Given the description of an element on the screen output the (x, y) to click on. 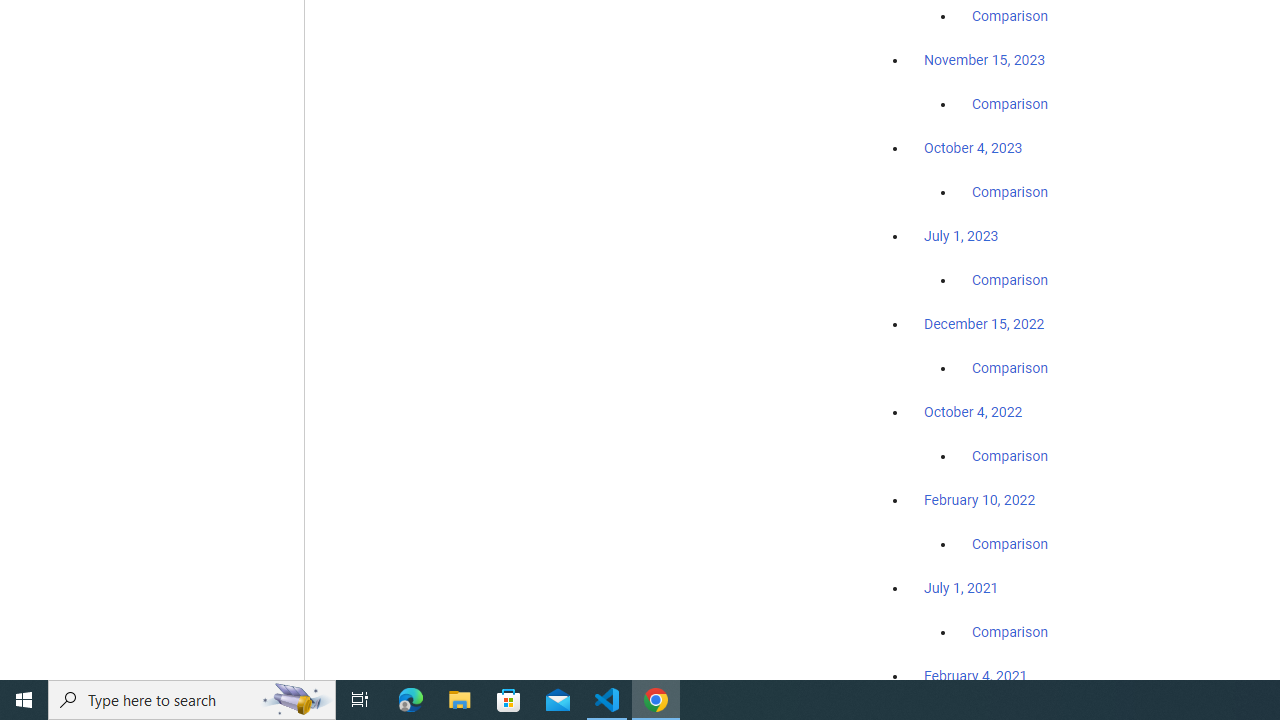
October 4, 2023 (973, 148)
February 10, 2022 (979, 500)
July 1, 2023 (961, 236)
February 4, 2021 (975, 675)
Comparison (1009, 631)
November 15, 2023 (984, 60)
October 4, 2022 (973, 412)
July 1, 2021 (961, 587)
December 15, 2022 (984, 323)
